Given the description of an element on the screen output the (x, y) to click on. 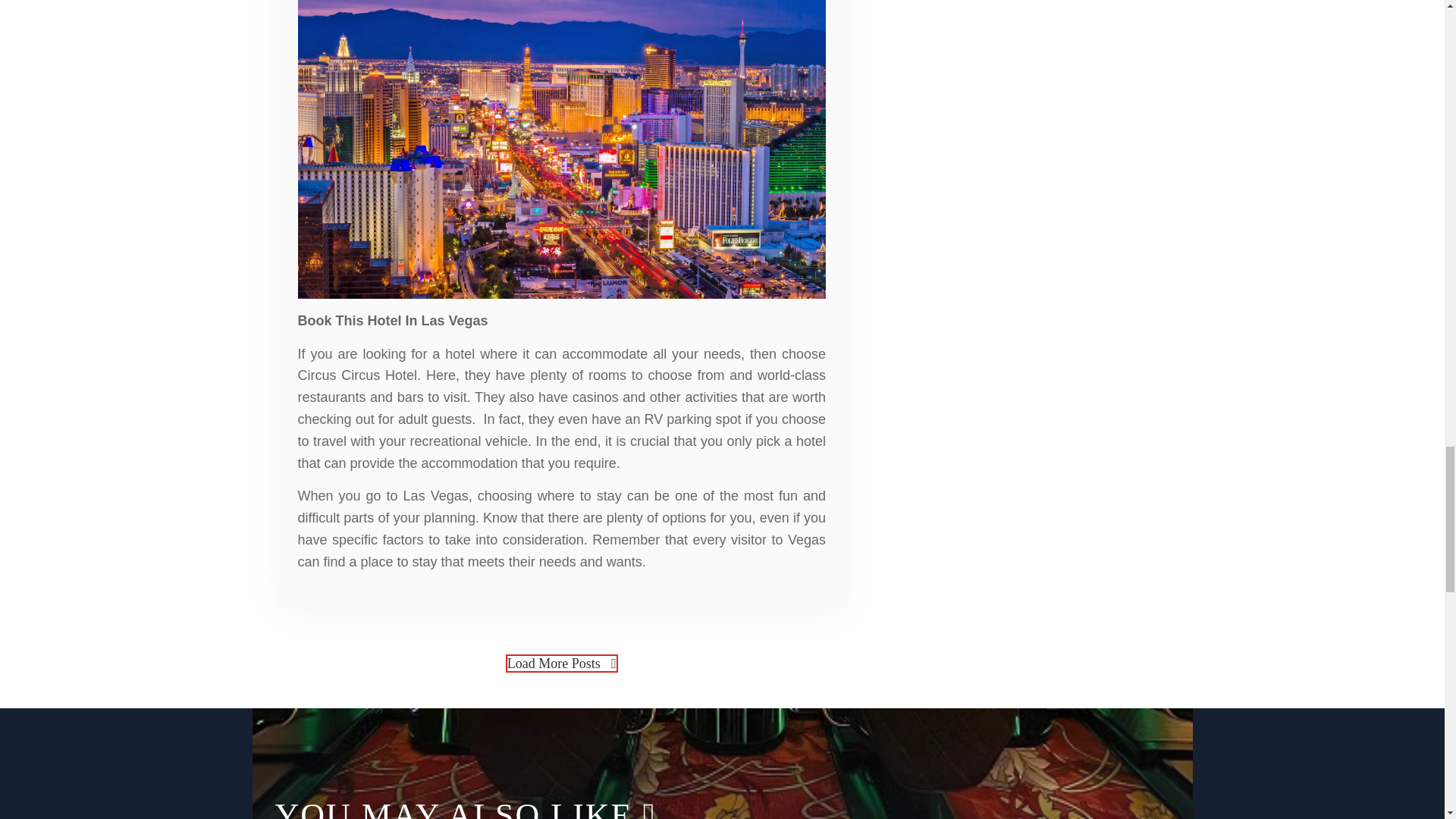
Load More Posts (561, 663)
